Given the description of an element on the screen output the (x, y) to click on. 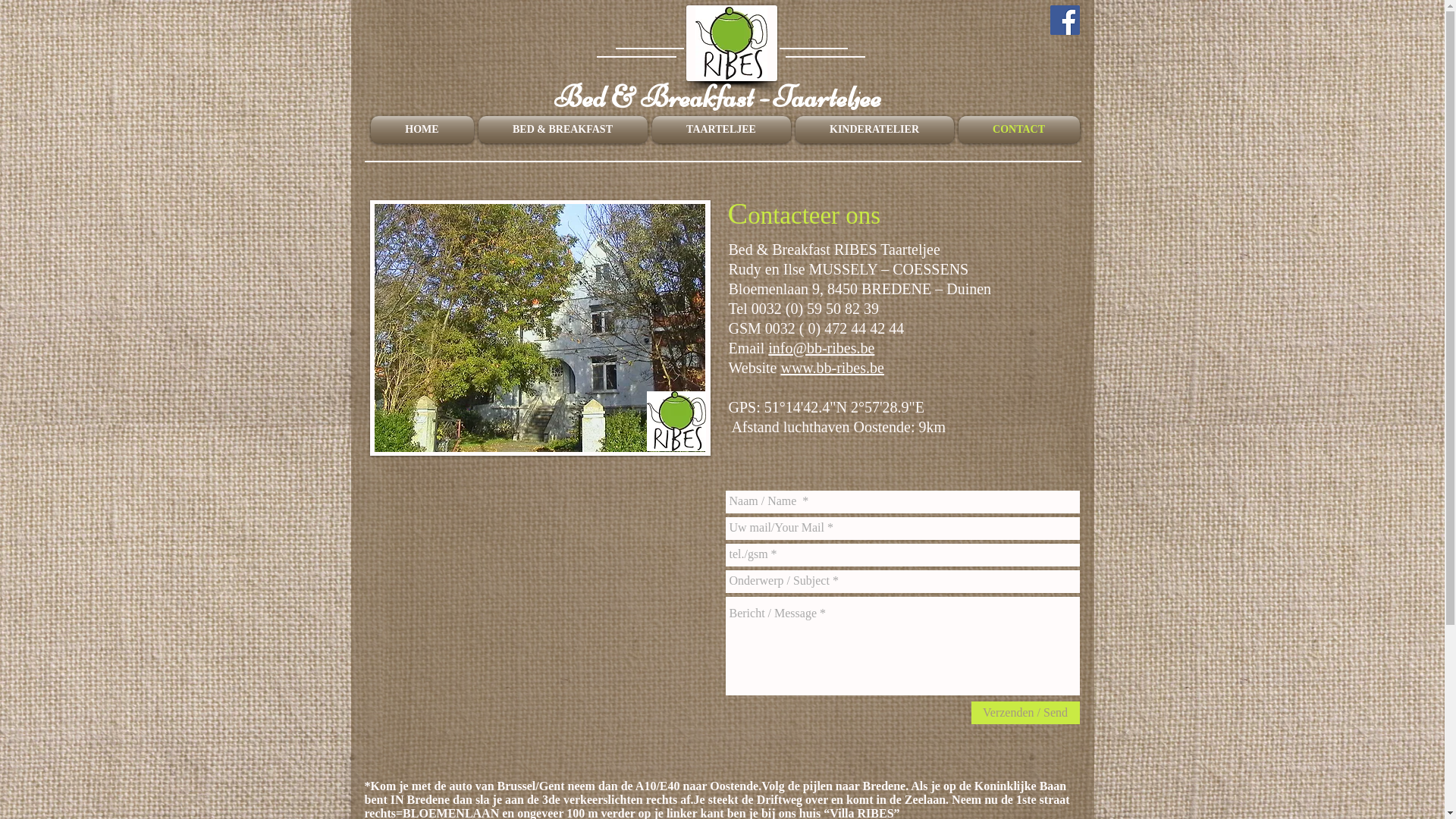
Bloemenlaan (12).JPG Element type: hover (540, 327)
KINDERATELIER Element type: text (874, 129)
BED & BREAKFAST Element type: text (562, 129)
CONTACT Element type: text (1017, 129)
HOME Element type: text (422, 129)
www.bb-ribes.be Element type: text (831, 367)
info@bb-ribes.be Element type: text (821, 347)
Google Maps Element type: hover (536, 631)
Verzenden / Send Element type: text (1024, 712)
TAARTELJEE Element type: text (720, 129)
